Given the description of an element on the screen output the (x, y) to click on. 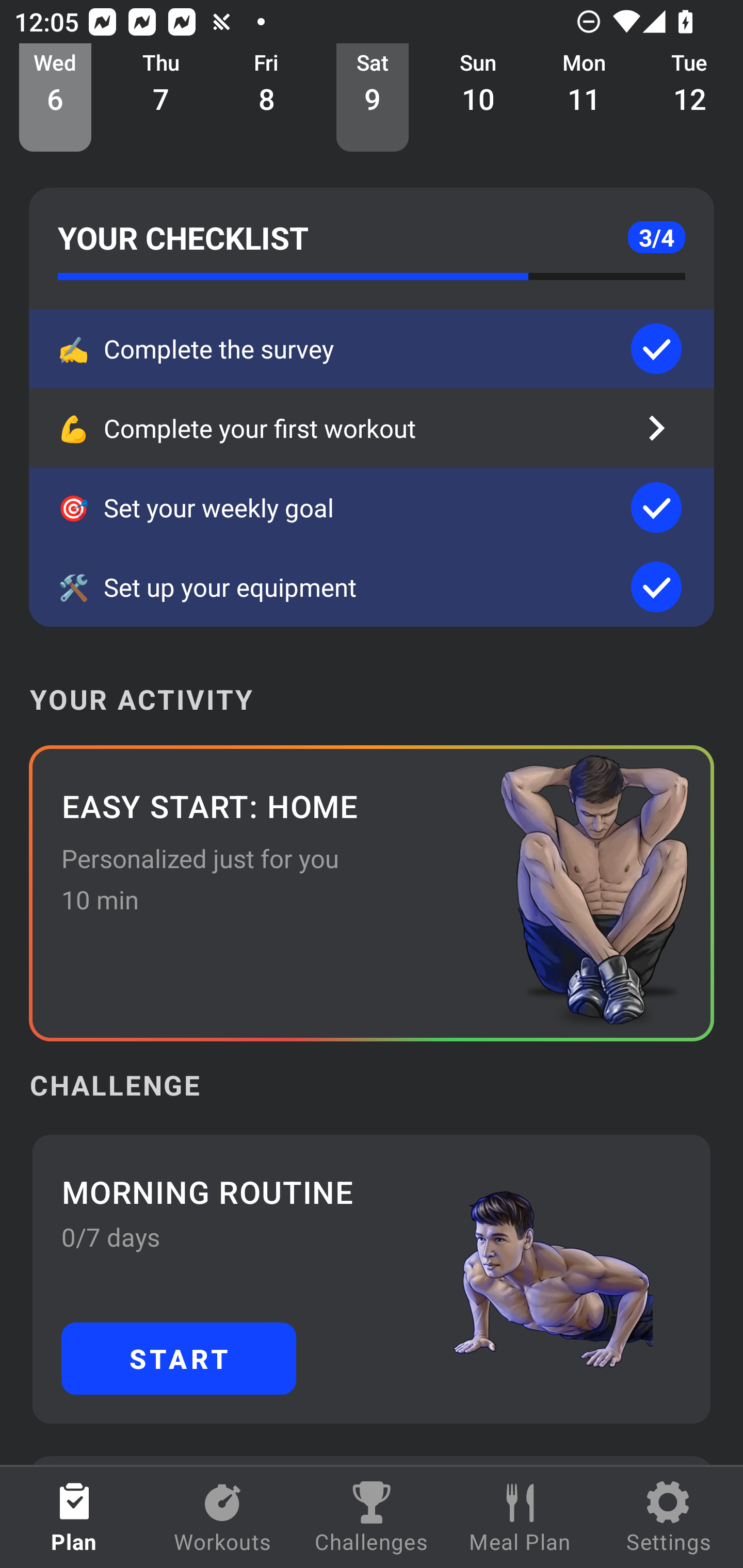
Wed 6 (55, 97)
Thu 7 (160, 97)
Fri 8 (266, 97)
Sat 9 (372, 97)
Sun 10 (478, 97)
Mon 11 (584, 97)
Tue 12 (690, 97)
💪 Complete your first workout (371, 427)
EASY START: HOME Personalized just for you 10 min (371, 892)
MORNING ROUTINE 0/7 days START (371, 1278)
START (178, 1357)
 Workouts  (222, 1517)
 Challenges  (371, 1517)
 Meal Plan  (519, 1517)
 Settings  (668, 1517)
